Given the description of an element on the screen output the (x, y) to click on. 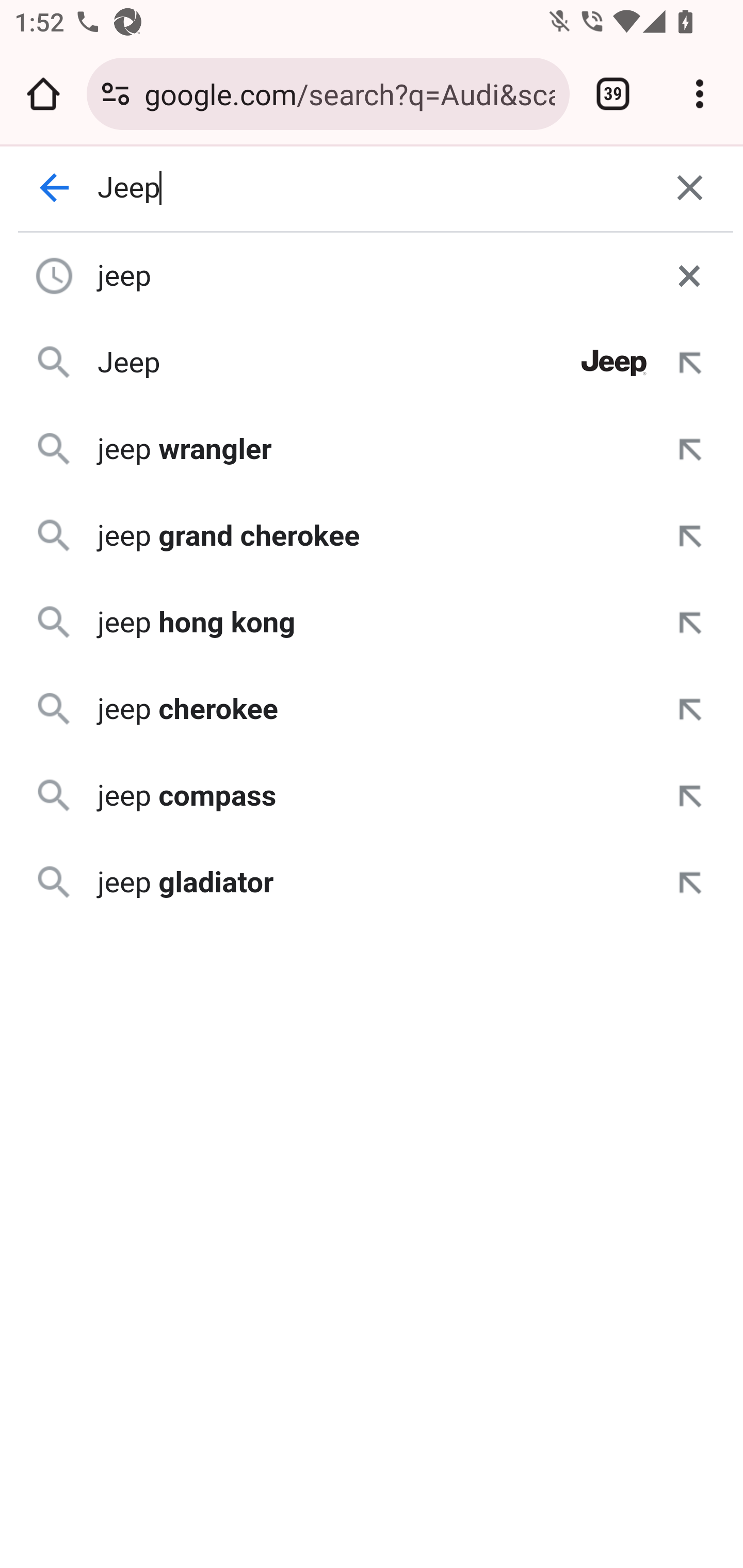
Open the home page (43, 93)
Connection is secure (115, 93)
Switch or close tabs (612, 93)
Customize and control Google Chrome (699, 93)
Back (54, 188)
Clear Search (690, 188)
Jeep (372, 188)
Delete (689, 274)
